Given the description of an element on the screen output the (x, y) to click on. 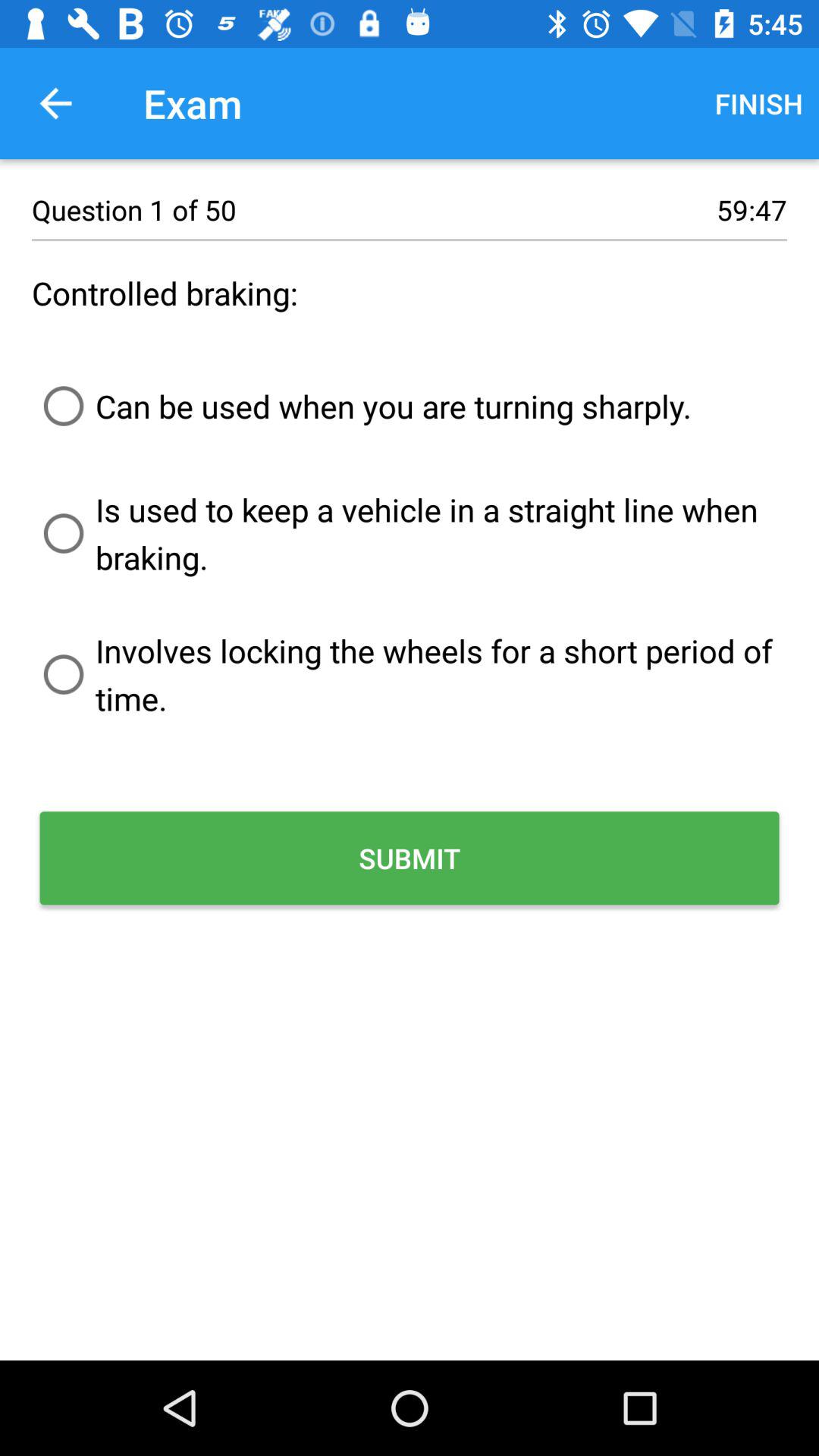
click the icon to the left of exam item (55, 103)
